Given the description of an element on the screen output the (x, y) to click on. 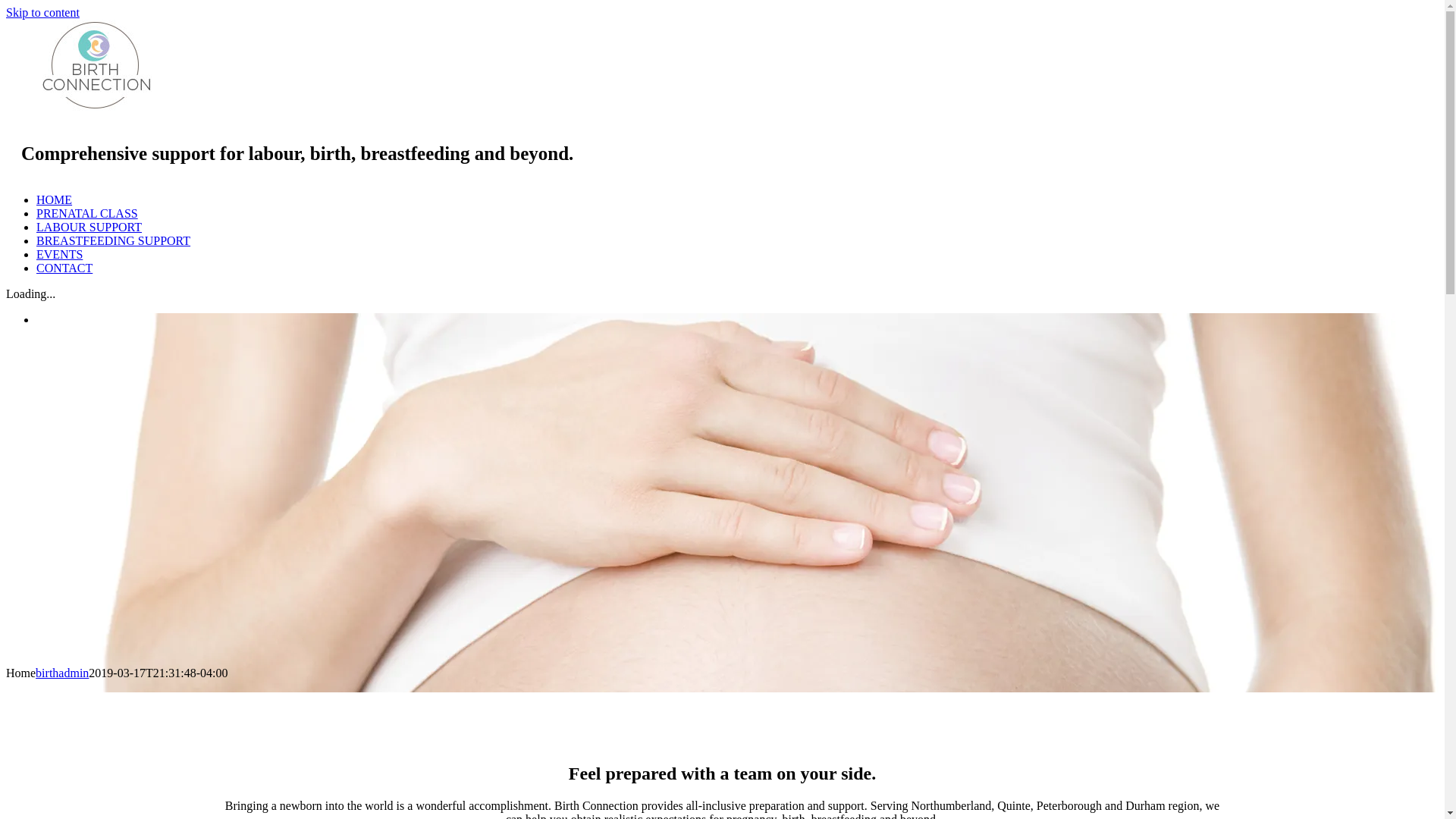
PRENATAL CLASS Element type: text (87, 213)
EVENTS Element type: text (59, 253)
LABOUR SUPPORT Element type: text (88, 226)
birthadmin Element type: text (61, 672)
HOME Element type: text (54, 199)
CONTACT Element type: text (64, 267)
Skip to content Element type: text (42, 12)
BREASTFEEDING SUPPORT Element type: text (113, 240)
